Given the description of an element on the screen output the (x, y) to click on. 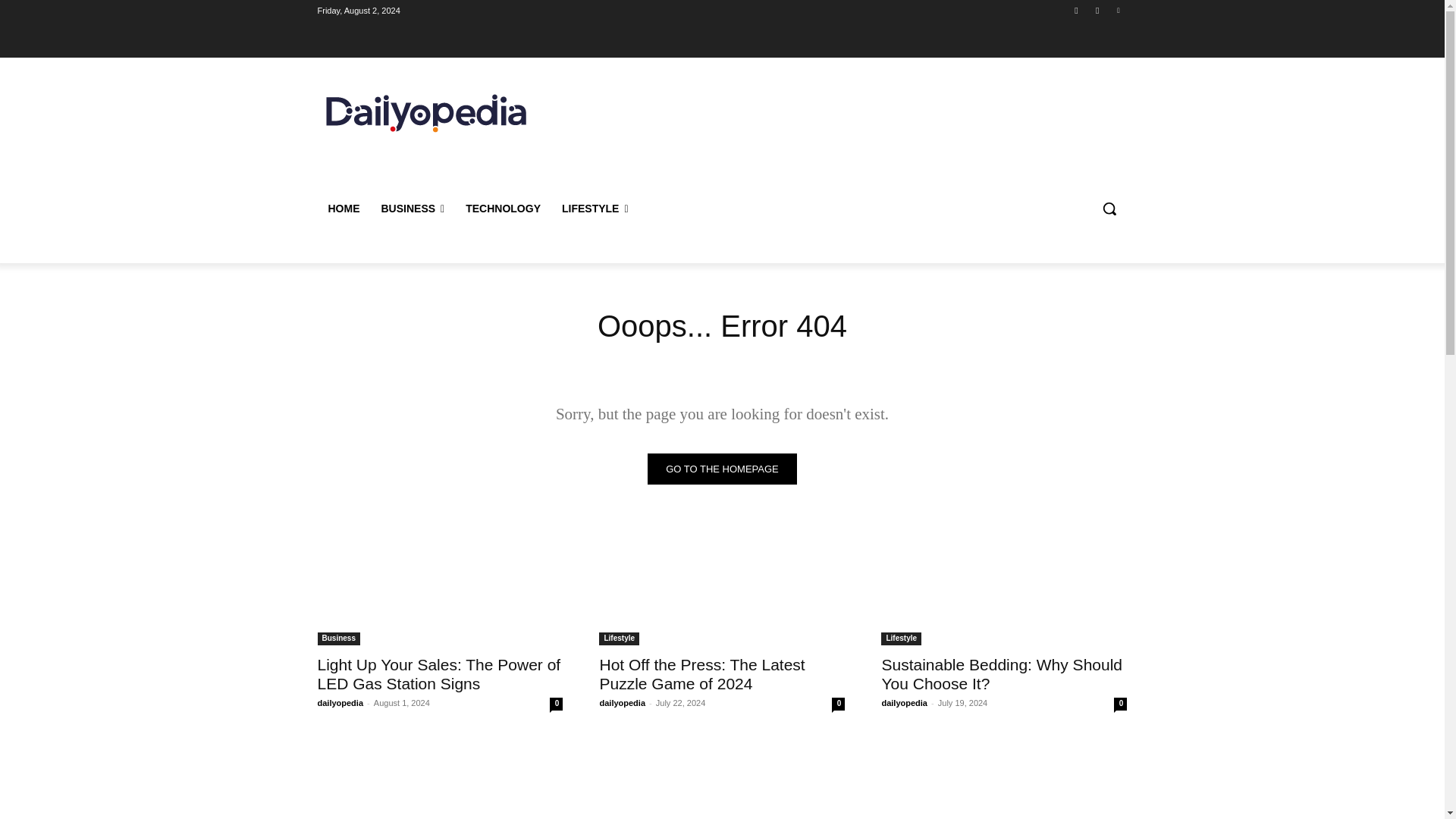
Facebook (1075, 9)
GO TO THE HOMEPAGE (721, 468)
Hot Off the Press: The Latest Puzzle Game of 2024 (721, 583)
dailyopedia (339, 702)
Lifestyle (900, 638)
Hot Off the Press: The Latest Puzzle Game of 2024 (701, 674)
Linkedin (1117, 9)
Light Up Your Sales: The Power of LED Gas Station Signs (438, 674)
Lifestyle (618, 638)
0 (556, 703)
